Given the description of an element on the screen output the (x, y) to click on. 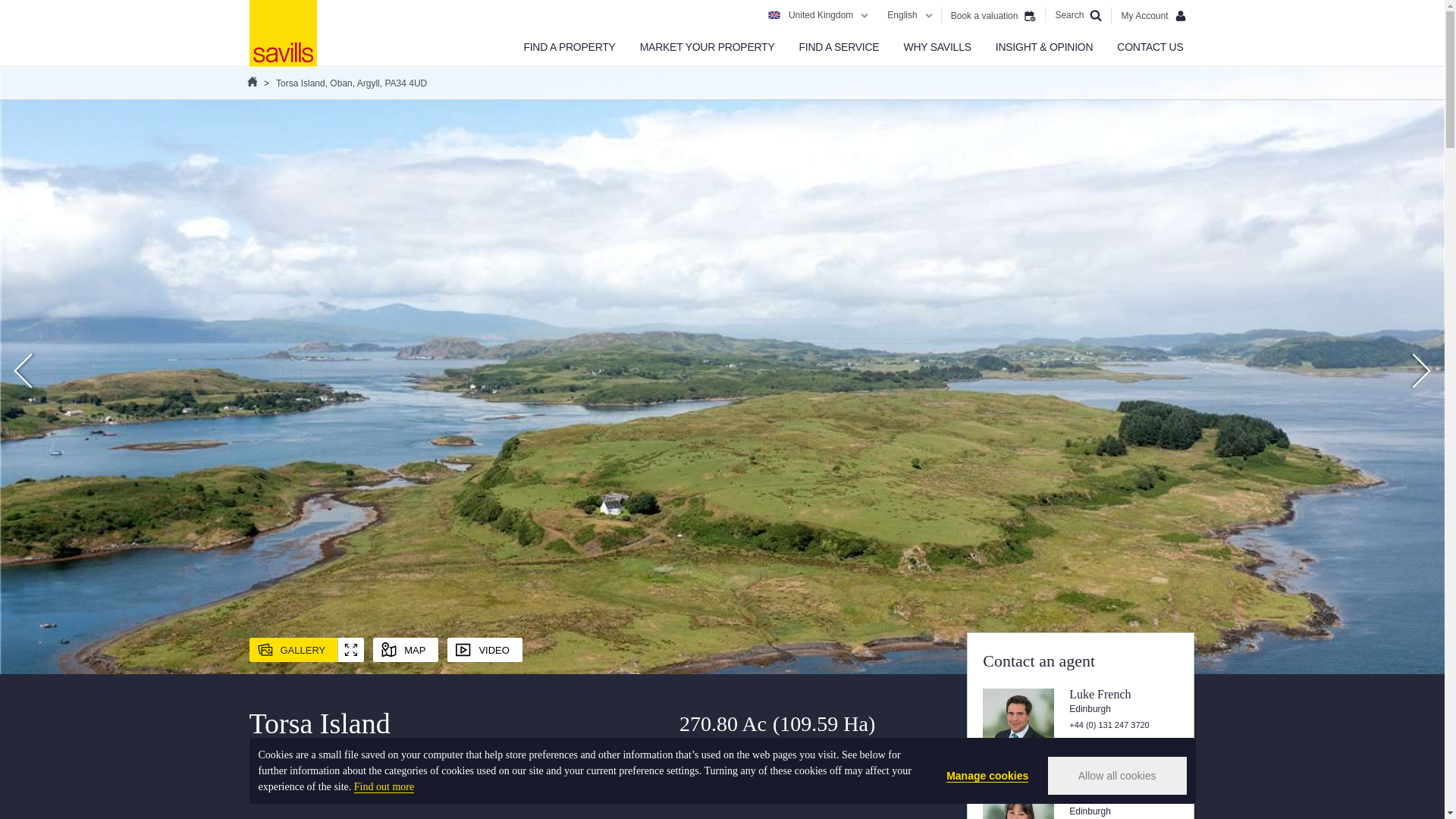
Book a valuation (992, 15)
Manage cookies (986, 775)
Find out more (383, 787)
My Account (1152, 15)
FIND A PROPERTY (568, 46)
Allow all cookies (1117, 775)
Go to homepage (281, 33)
Search (1077, 14)
